Given the description of an element on the screen output the (x, y) to click on. 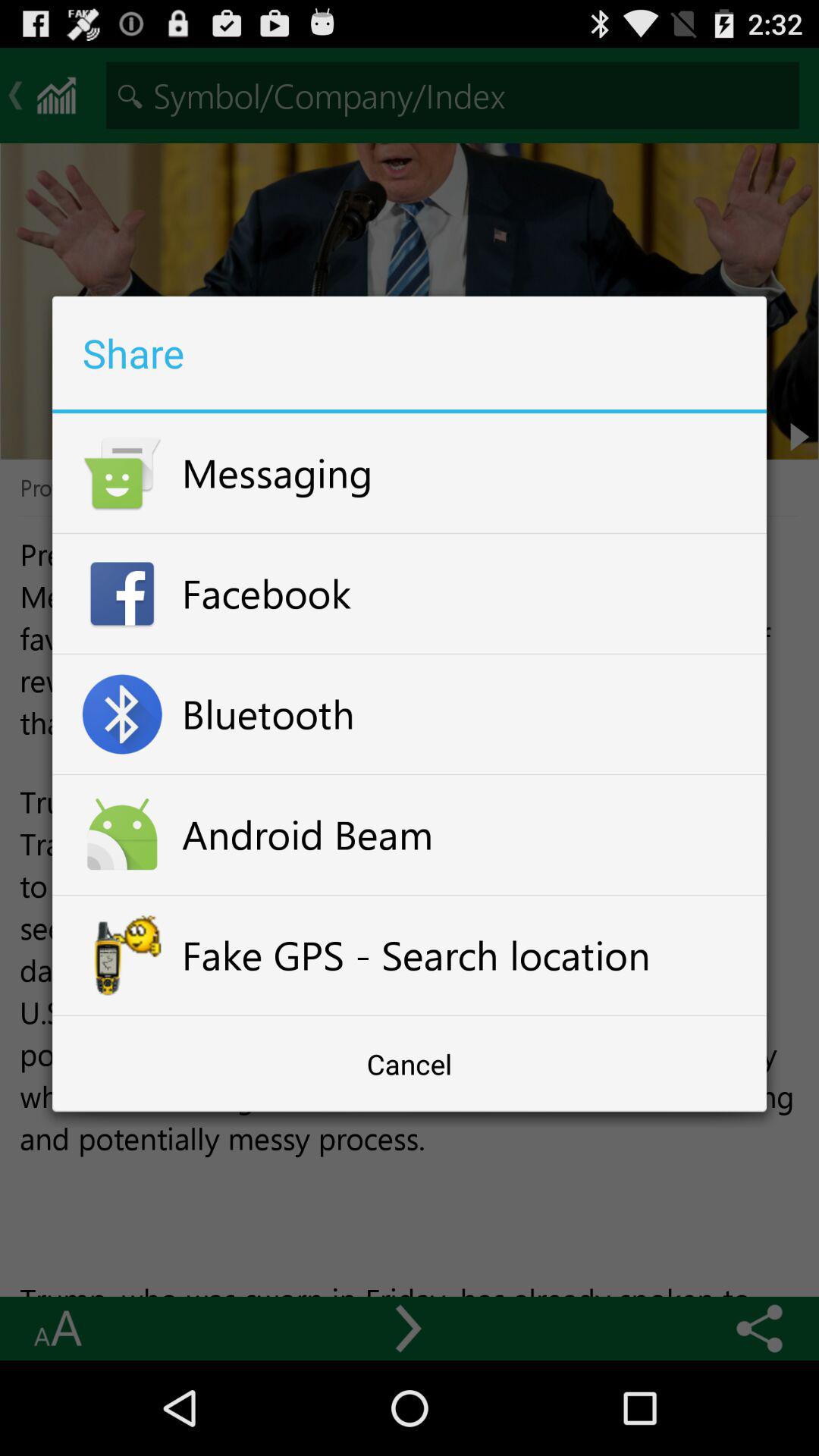
turn off cancel at the bottom (409, 1063)
